Given the description of an element on the screen output the (x, y) to click on. 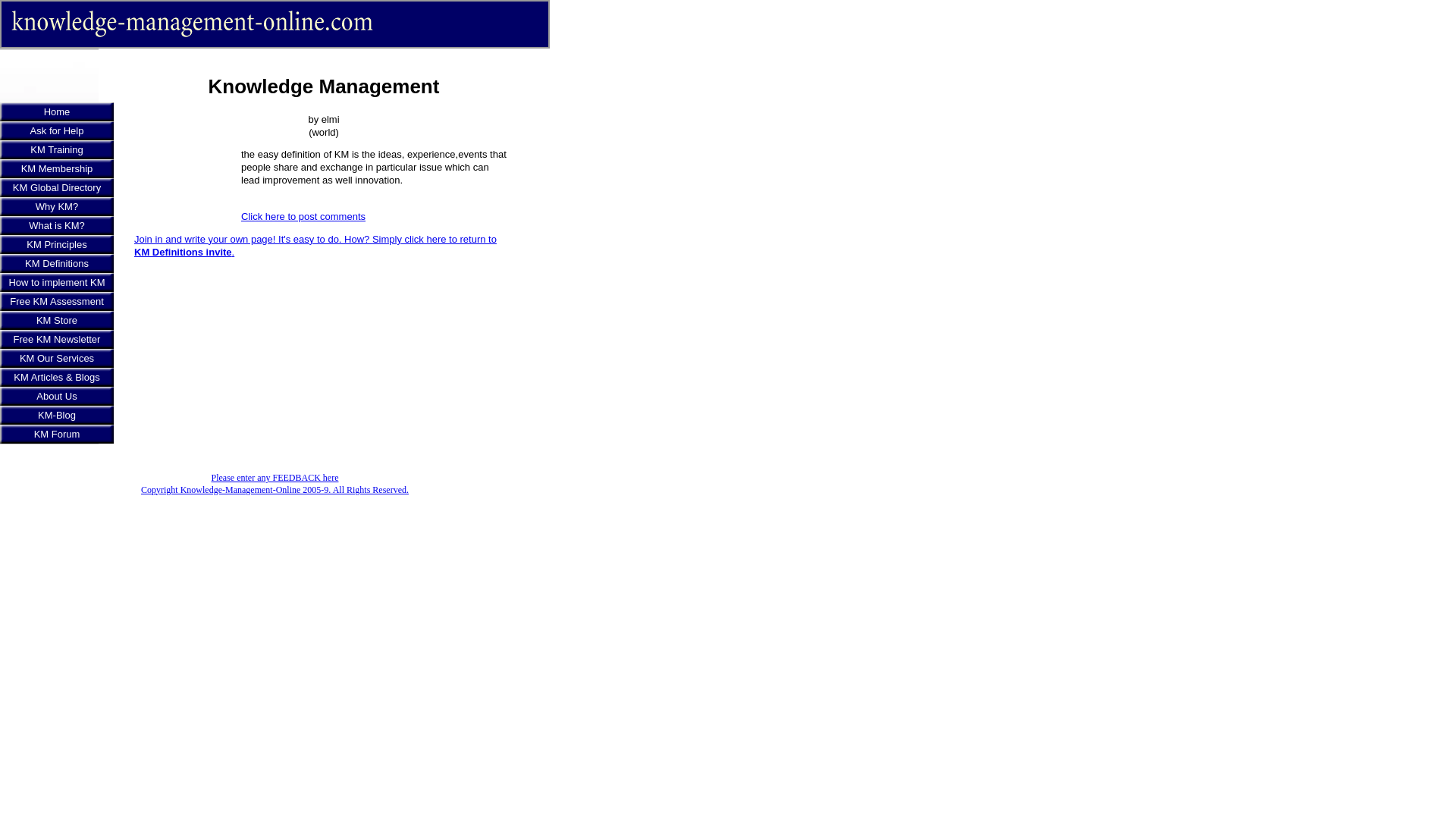
KM Principles (56, 244)
Why KM? (56, 206)
Advertisement (183, 182)
KM-Blog (56, 415)
Click here to post comments (303, 215)
KM Global Directory (56, 187)
KM Store (56, 320)
KM Our Services (56, 357)
KM Definitions (56, 262)
KM Forum (56, 434)
How to implement KM (56, 281)
What is KM? (56, 225)
Free KM Newsletter (56, 339)
Home (56, 111)
